Given the description of an element on the screen output the (x, y) to click on. 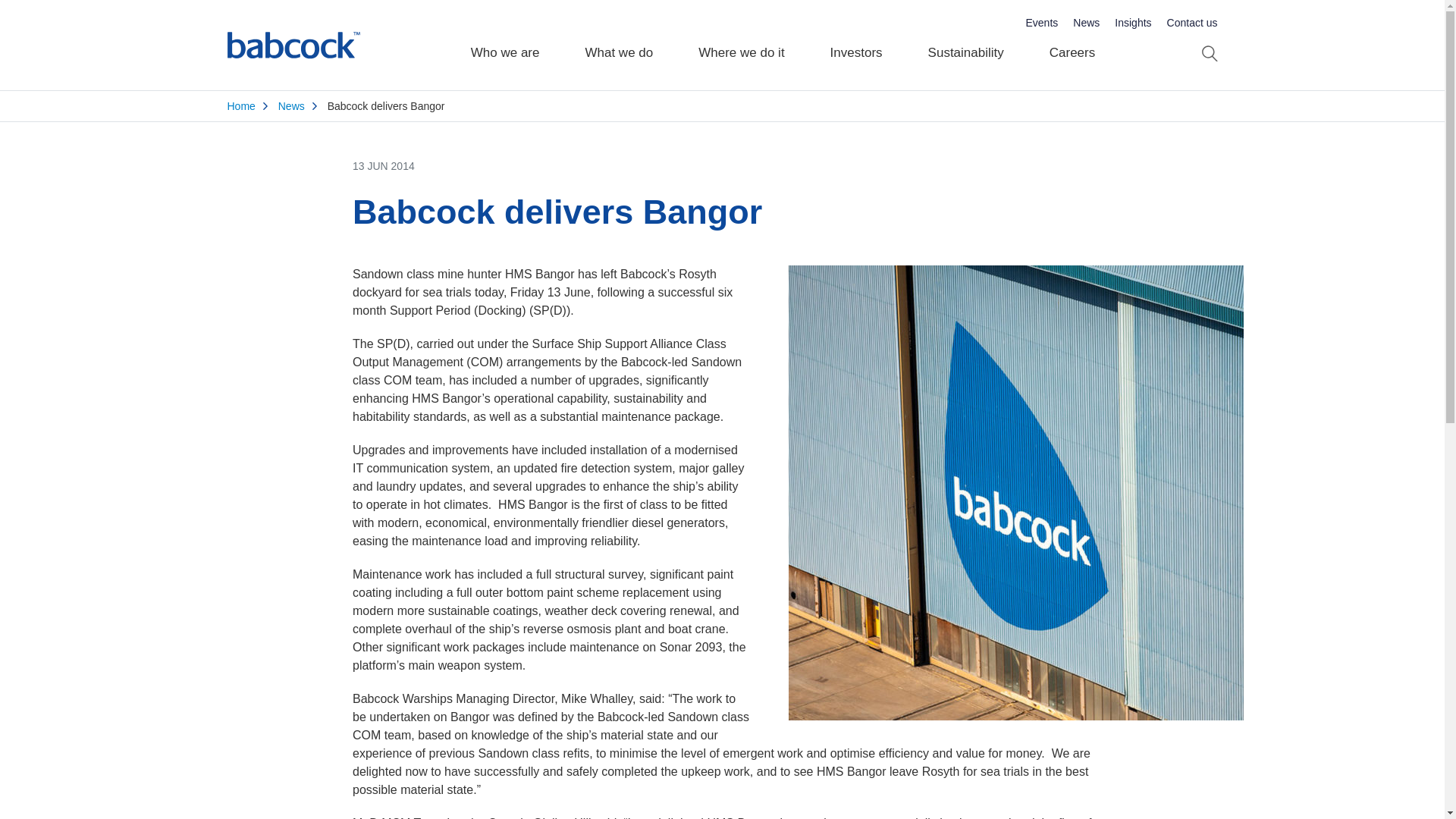
Investors (856, 45)
Back to Homepage (293, 44)
Who we are (505, 45)
Where we do it (740, 45)
What we do (618, 45)
